Given the description of an element on the screen output the (x, y) to click on. 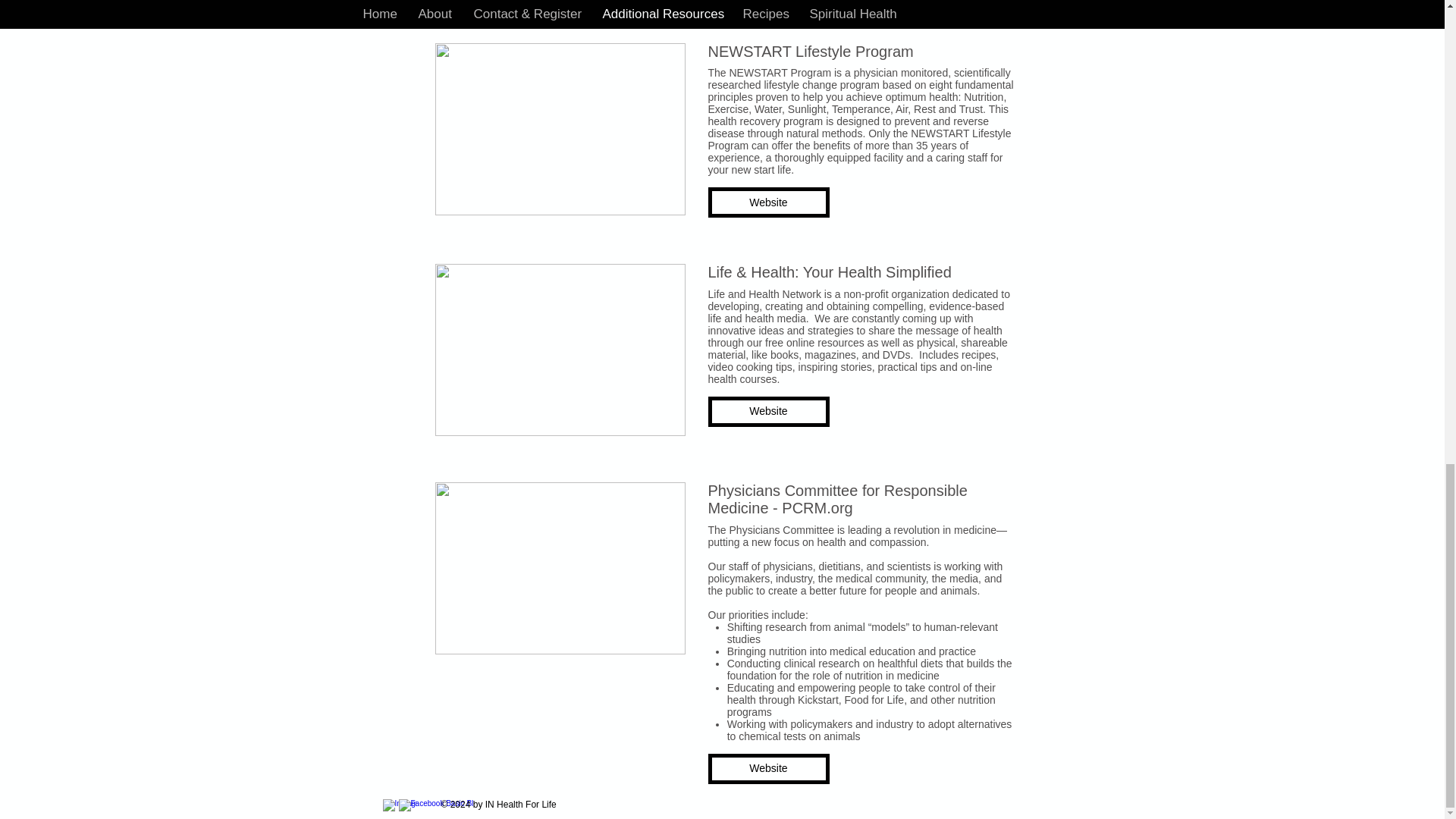
Website (768, 411)
Little Boy Playing Doctor (560, 568)
Gazebo.jpg (560, 129)
Website (768, 202)
Website (768, 768)
